Given the description of an element on the screen output the (x, y) to click on. 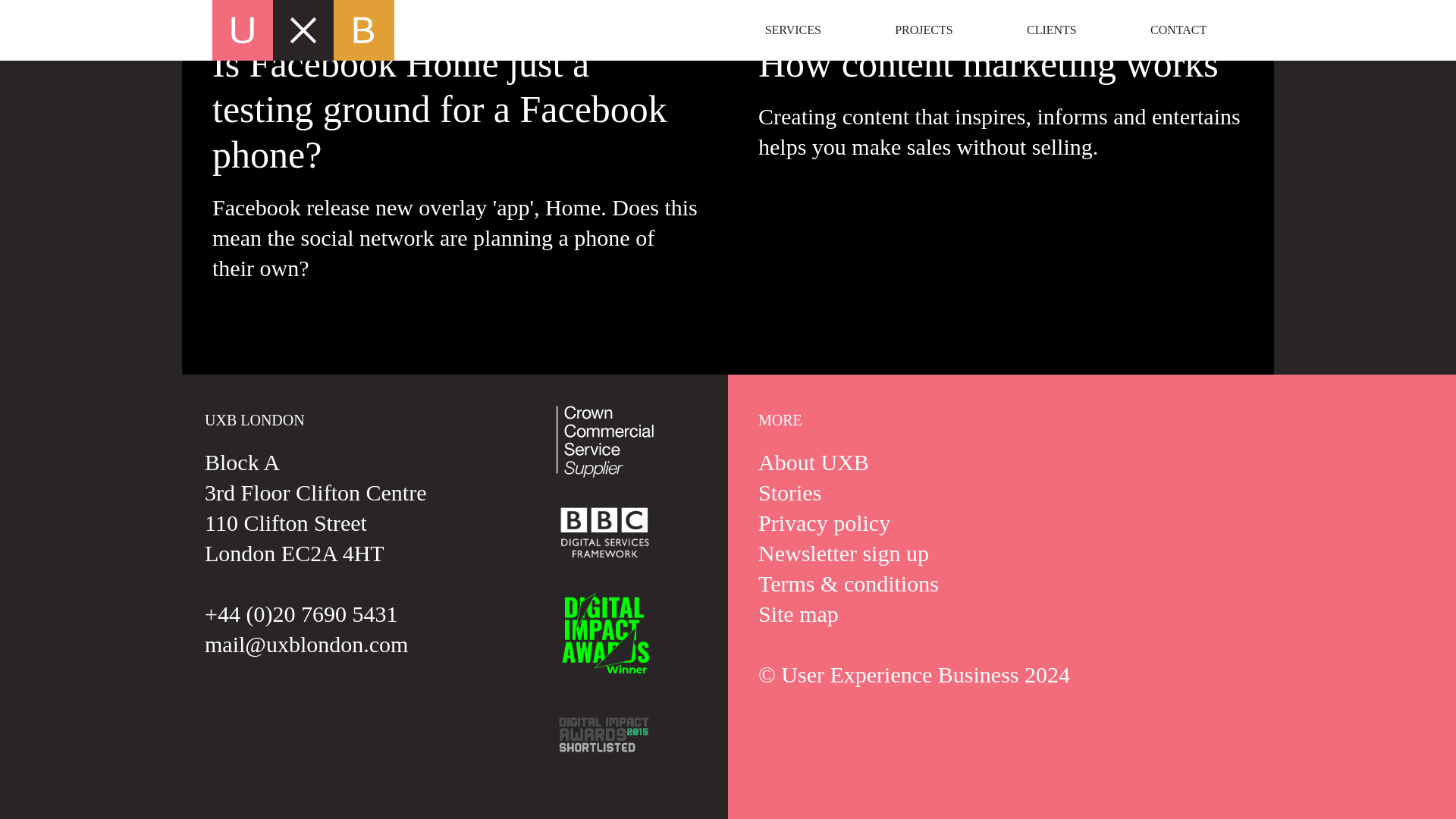
Stories (789, 492)
About UXB (813, 462)
Site map (798, 613)
Newsletter sign up (843, 552)
Privacy policy (823, 522)
